Given the description of an element on the screen output the (x, y) to click on. 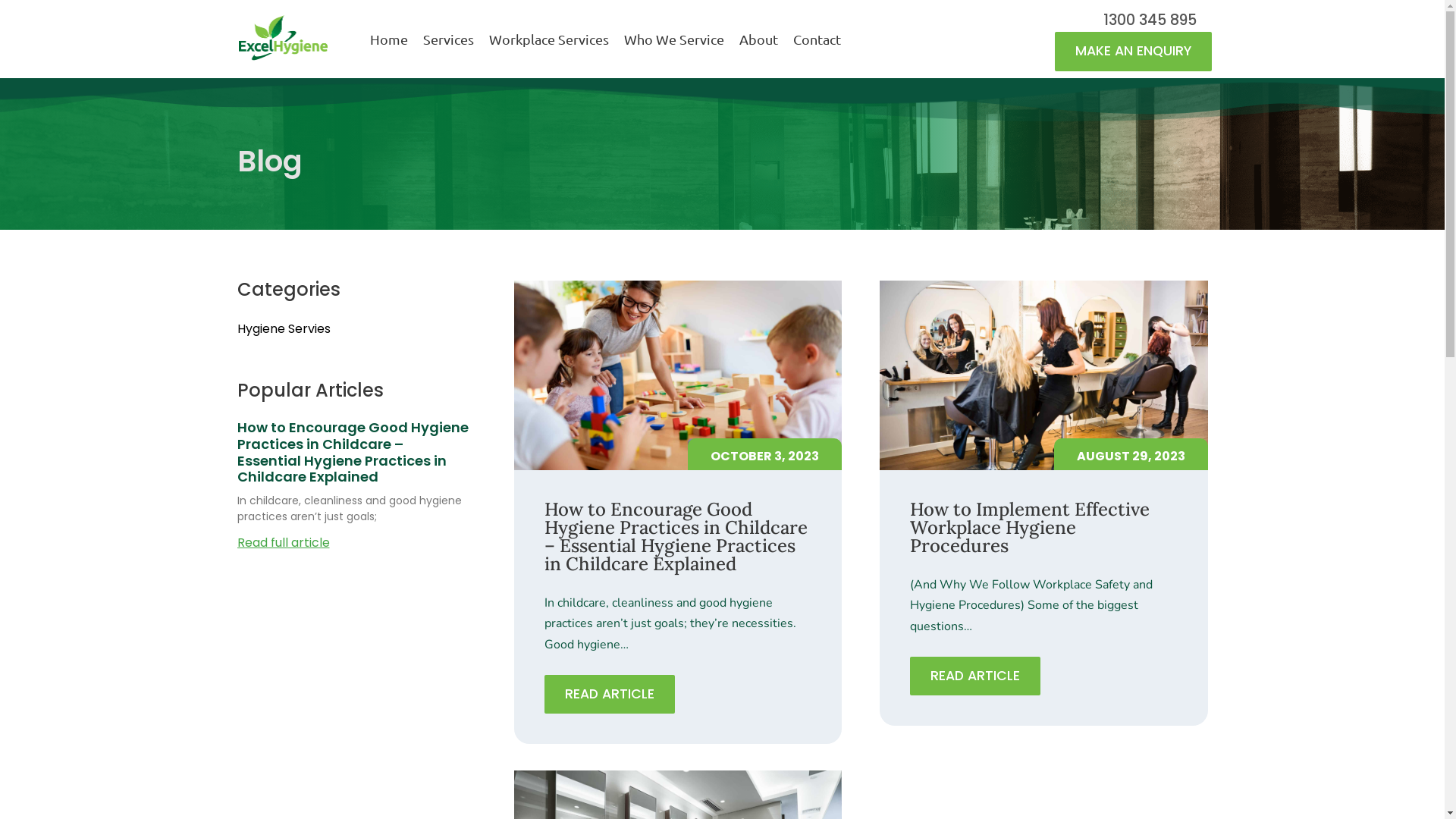
About Element type: text (758, 38)
1300 345 895 Element type: text (1138, 19)
READ ARTICLE Element type: text (609, 694)
READ ARTICLE Element type: text (975, 676)
Who We Service Element type: text (673, 38)
Hygiene Servies Element type: text (282, 328)
Workplace Services Element type: text (548, 38)
Home Element type: text (388, 38)
Services Element type: text (448, 38)
Contact Element type: text (816, 38)
Read full article Element type: text (282, 542)
MAKE AN ENQUIRY Element type: text (1132, 51)
